Given the description of an element on the screen output the (x, y) to click on. 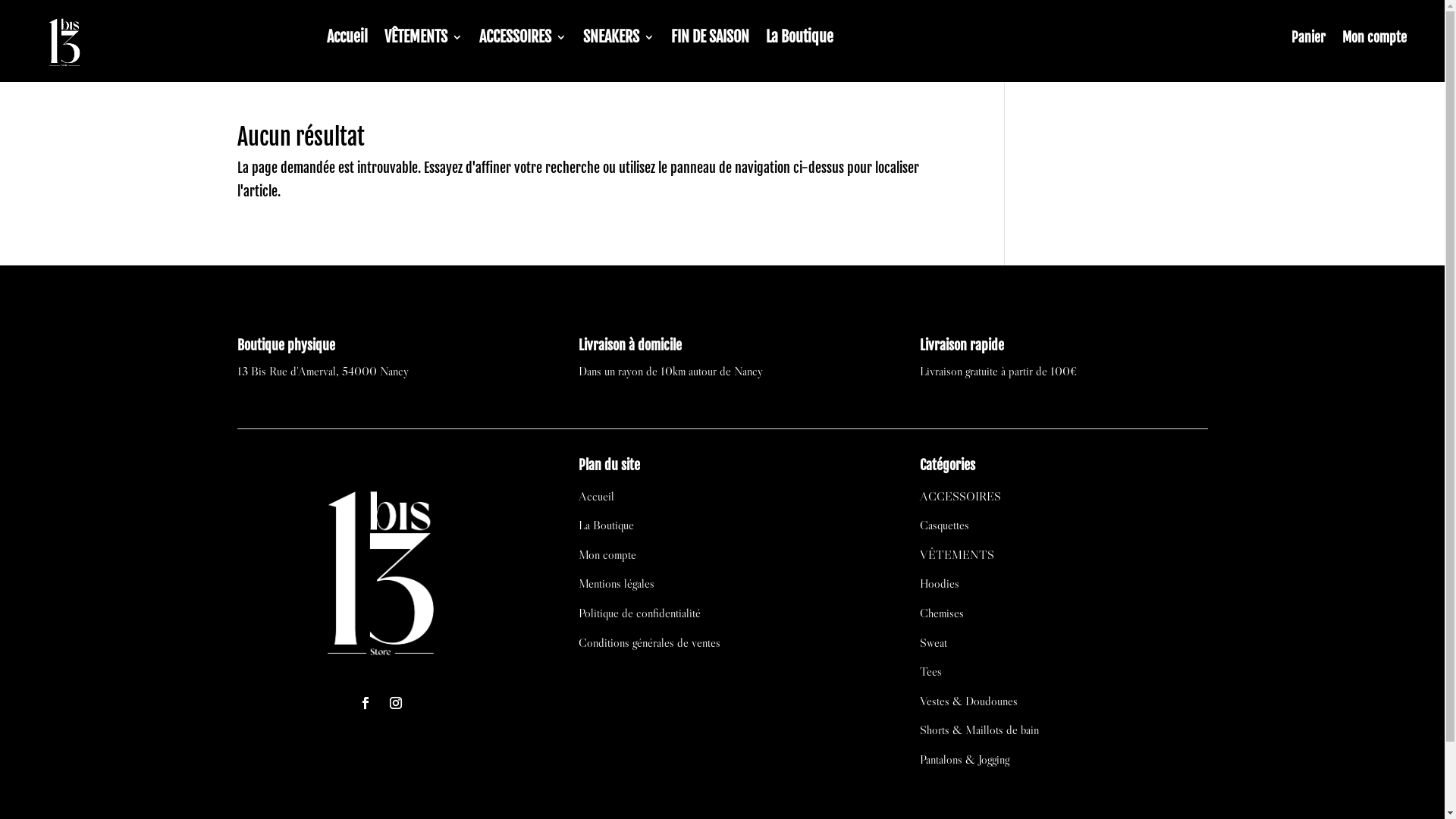
Casquettes Element type: text (944, 524)
FIN DE SAISON Element type: text (710, 39)
13BIS-white Element type: hover (380, 568)
Chemises Element type: text (941, 612)
Sweat Element type: text (933, 641)
Suivez sur Instagram Element type: hover (395, 702)
Mon compte Element type: text (1374, 39)
Suivez sur Facebook Element type: hover (365, 702)
Tees Element type: text (930, 670)
Pantalons & Jogging Element type: text (964, 758)
Mon compte Element type: text (607, 553)
ACCESSOIRES Element type: text (960, 495)
Accueil Element type: text (346, 39)
Vestes & Doudounes Element type: text (968, 700)
Accueil Element type: text (596, 495)
Panier Element type: text (1308, 39)
Hoodies Element type: text (939, 582)
La Boutique Element type: text (799, 39)
SNEAKERS Element type: text (618, 39)
ACCESSOIRES Element type: text (522, 39)
La Boutique Element type: text (605, 524)
13BIS-white Element type: hover (64, 40)
Shorts & Maillots de bain Element type: text (978, 729)
